Given the description of an element on the screen output the (x, y) to click on. 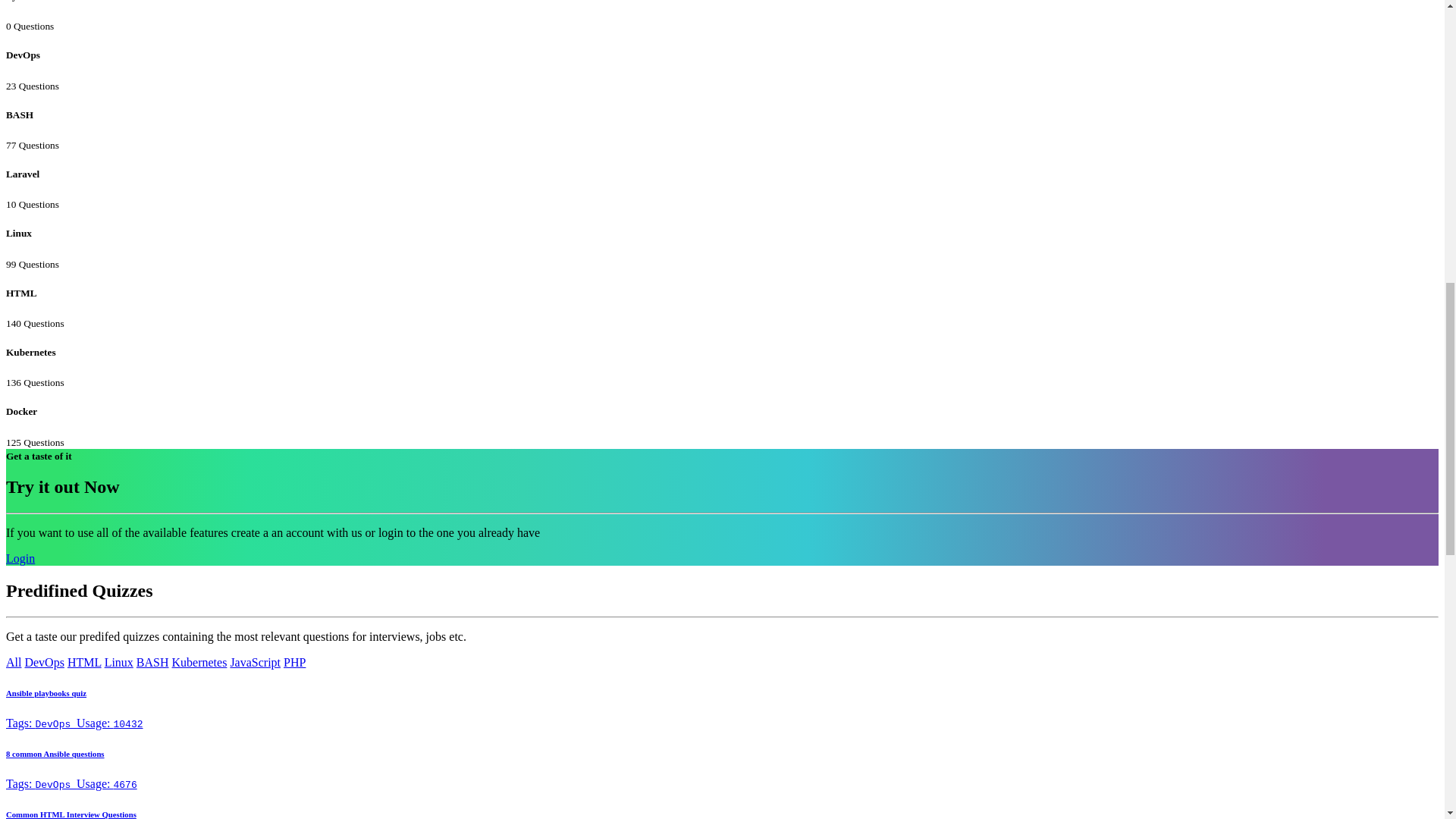
DevOps (44, 662)
PHP (294, 662)
Linux (118, 662)
All (13, 662)
Login (19, 558)
Kubernetes (199, 662)
HTML (83, 662)
JavaScript (255, 662)
BASH (152, 662)
